Given the description of an element on the screen output the (x, y) to click on. 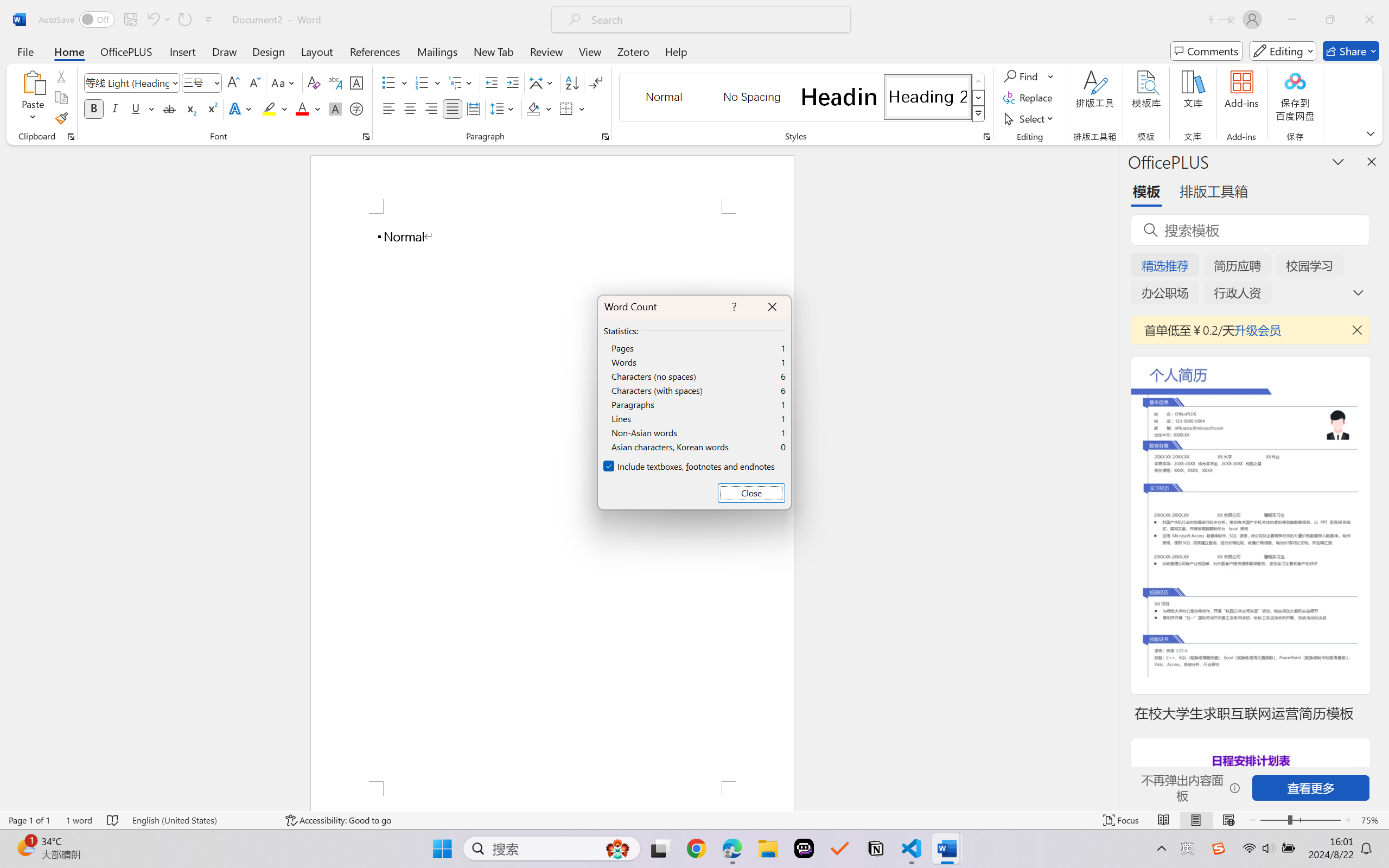
Asian Layout (542, 82)
